Given the description of an element on the screen output the (x, y) to click on. 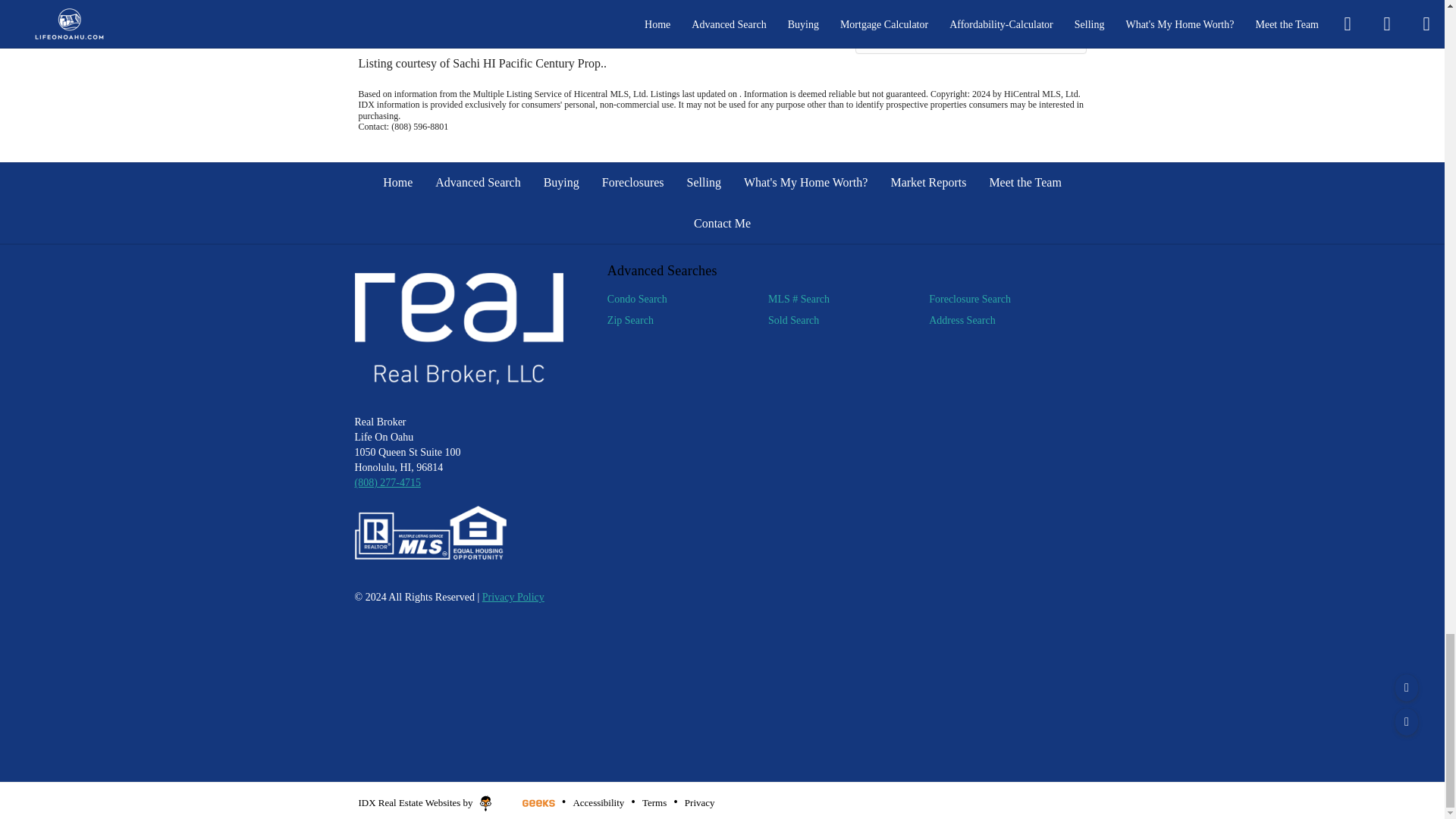
Logo (459, 328)
Phone Number (388, 482)
MLS Logo (430, 532)
